Given the description of an element on the screen output the (x, y) to click on. 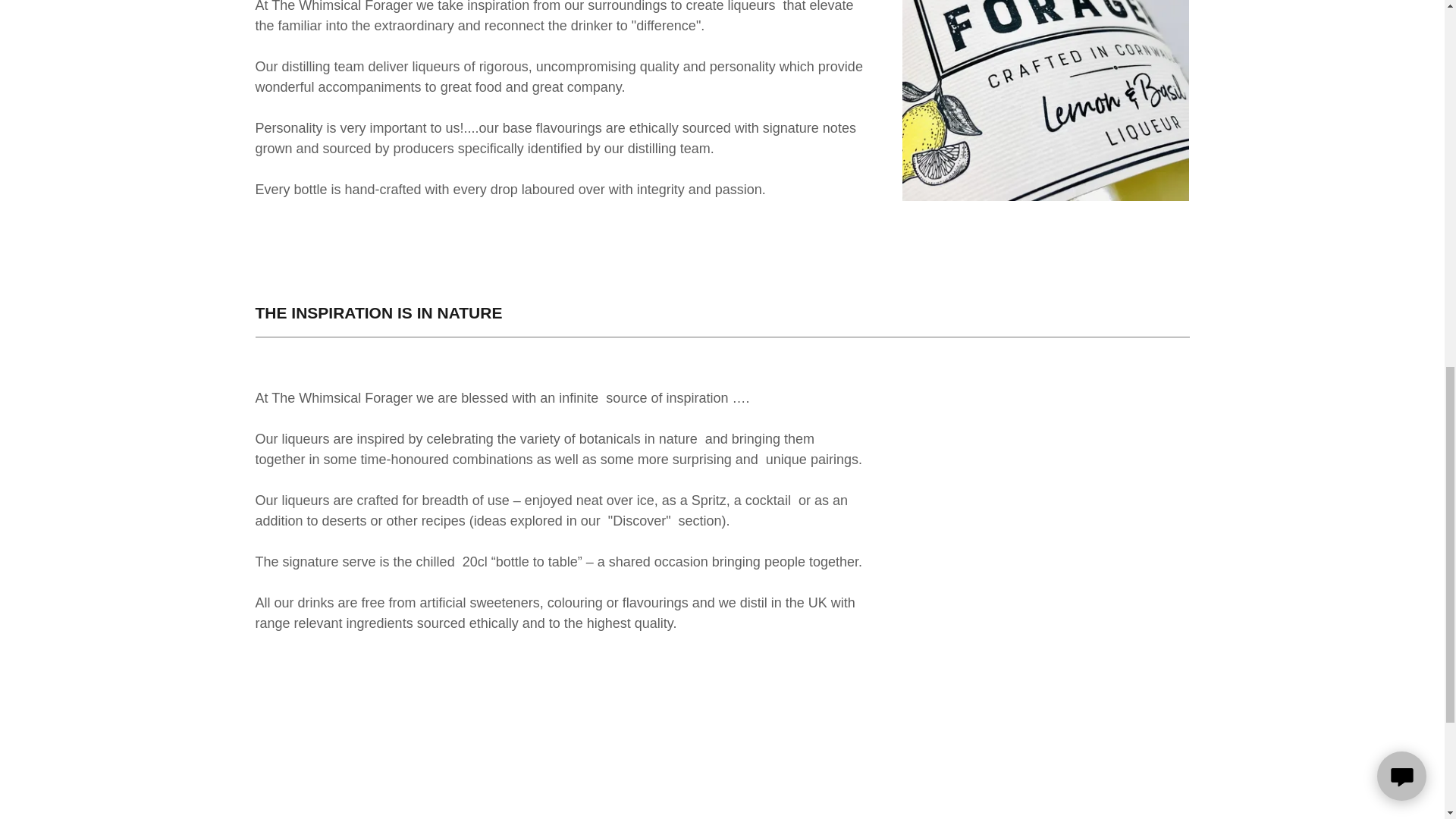
PRIVACY POLICY (624, 817)
